Given the description of an element on the screen output the (x, y) to click on. 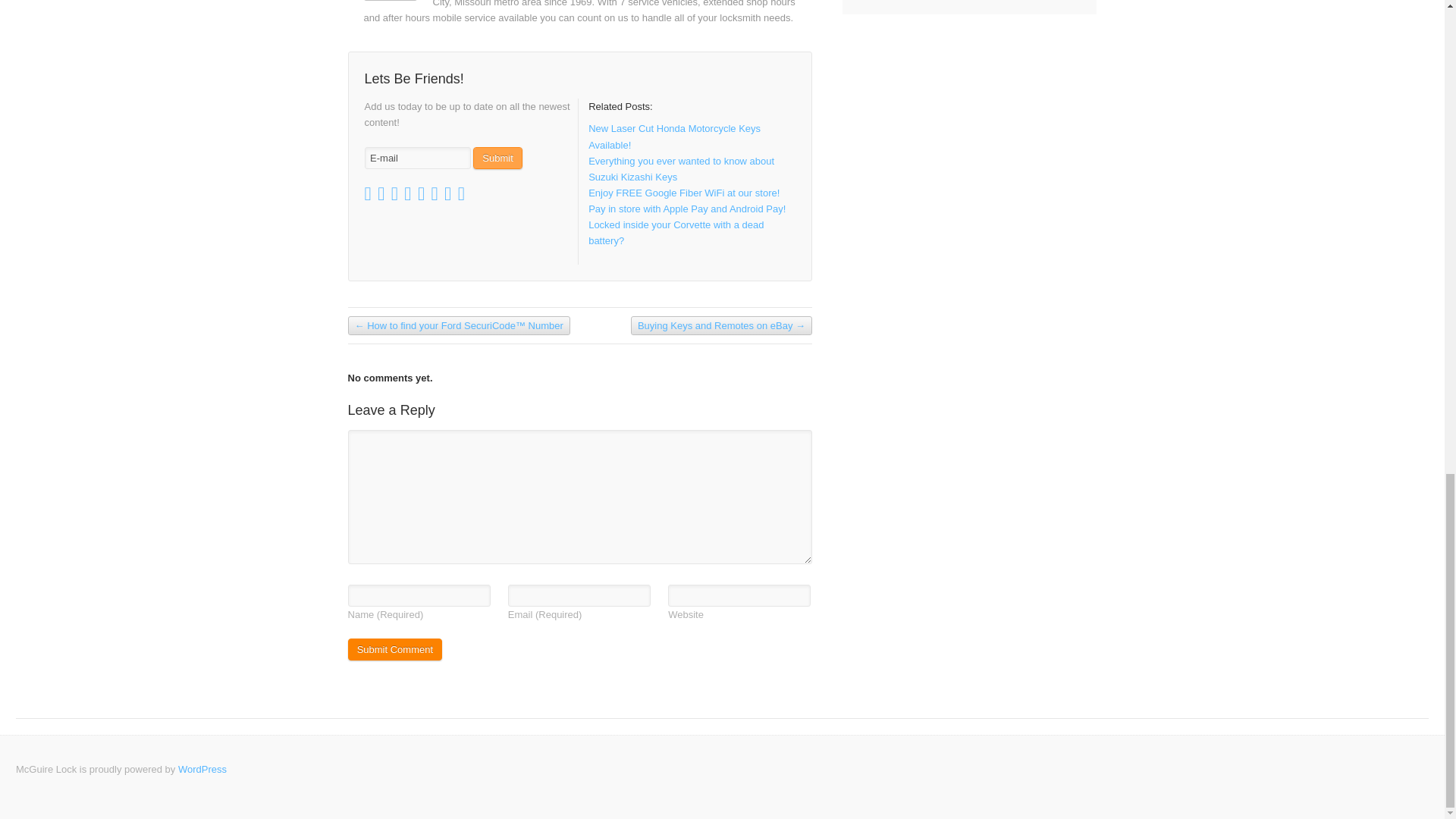
Submit Comment (394, 649)
Everything you ever wanted to know about Suzuki Kizashi Keys (681, 168)
Submit (497, 157)
E-mail (417, 157)
New Laser Cut Honda Motorcycle Keys Available! (674, 135)
Submit (497, 157)
New Laser Cut Honda Motorcycle Keys Available! (674, 135)
